Given the description of an element on the screen output the (x, y) to click on. 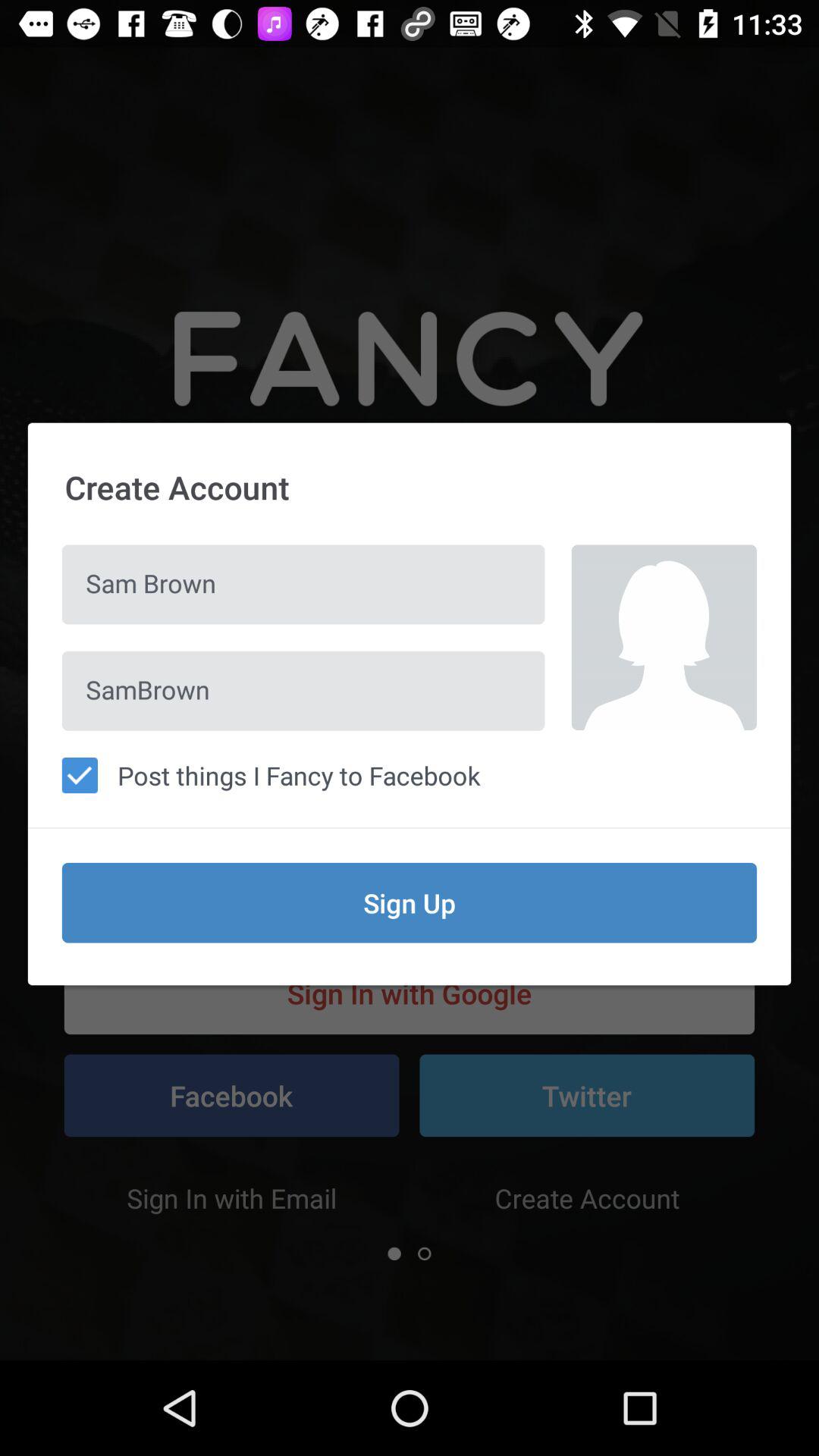
click the post things i (409, 775)
